Given the description of an element on the screen output the (x, y) to click on. 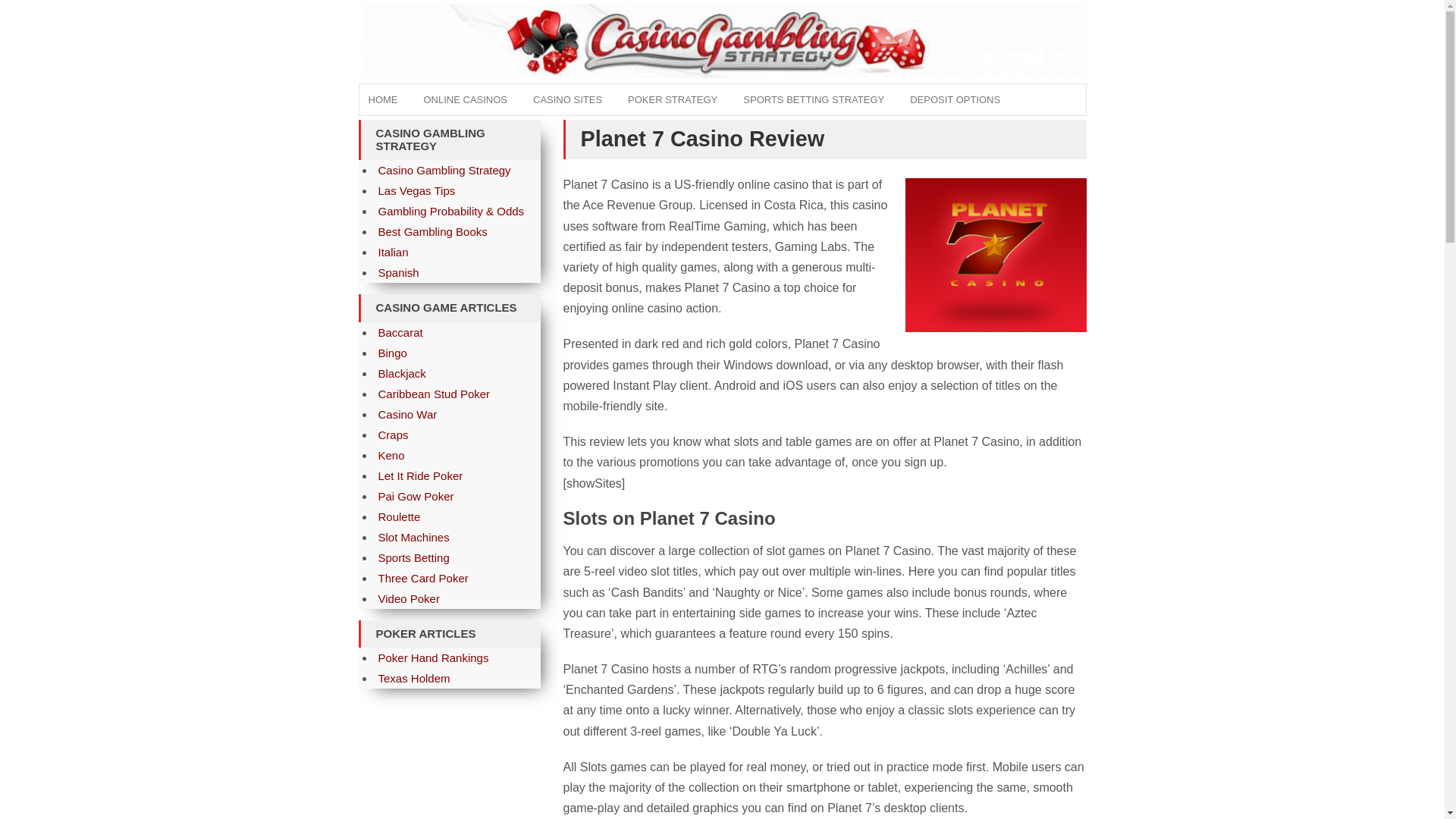
Poker Hand Rankings (432, 657)
Keno (390, 454)
Roulette (398, 516)
Caribbean Stud Poker (433, 393)
DEPOSIT OPTIONS (955, 99)
Las Vegas Tips (415, 190)
Casino Gambling Strategy (444, 169)
Craps (392, 434)
Video Poker (408, 598)
Baccarat (399, 332)
